Given the description of an element on the screen output the (x, y) to click on. 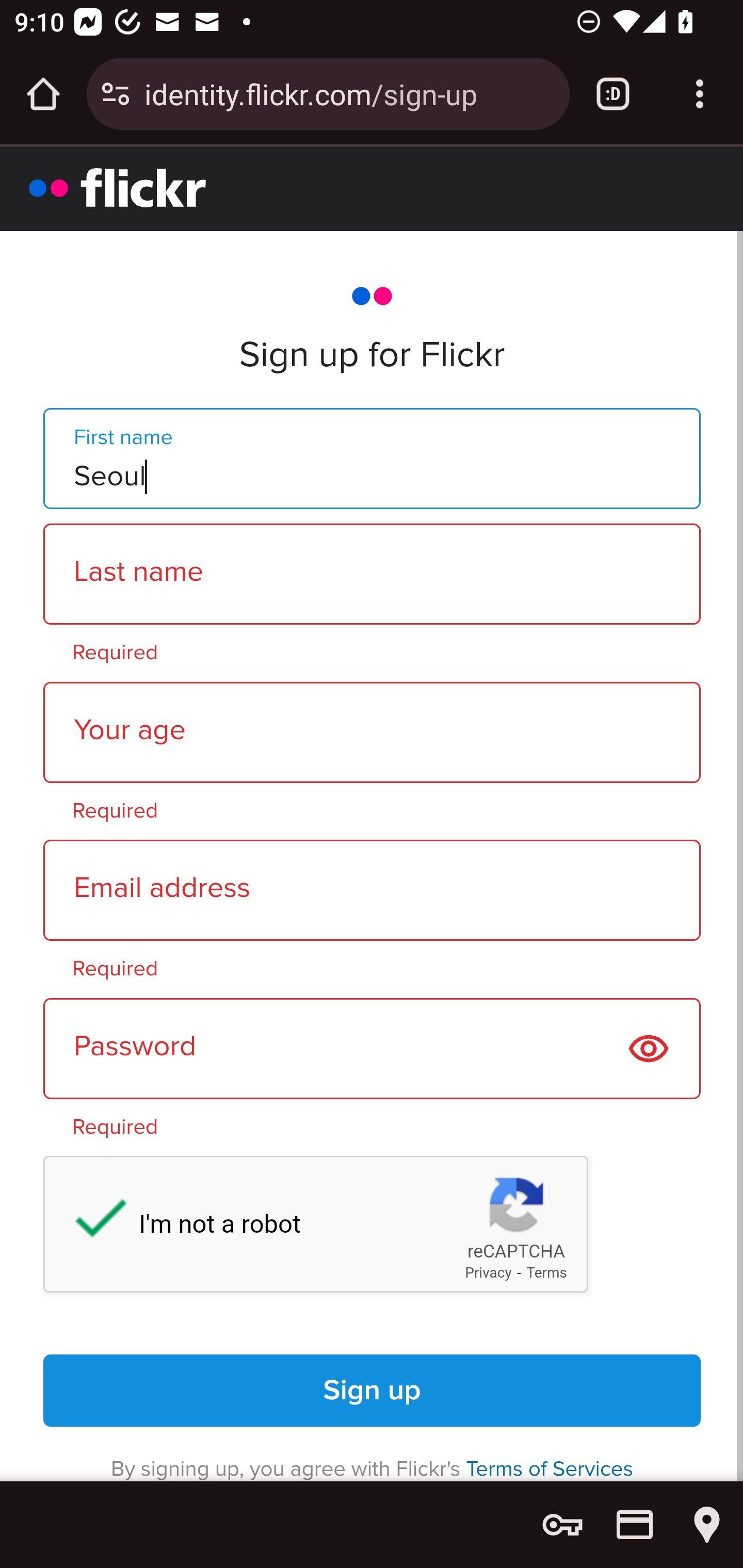
Open the home page (43, 93)
Connection is secure (115, 93)
Switch or close tabs (612, 93)
Customize and control Google Chrome (699, 93)
identity.flickr.com/sign-up (349, 92)
Flickr Logo (117, 186)
Seoul (371, 456)
I'm not a robot (91, 1222)
Privacy (488, 1272)
Terms (546, 1272)
Sign up (372, 1390)
Terms of Services (549, 1468)
Show saved passwords and password options (562, 1524)
Show saved payment methods (634, 1524)
Show saved addresses (706, 1524)
